Given the description of an element on the screen output the (x, y) to click on. 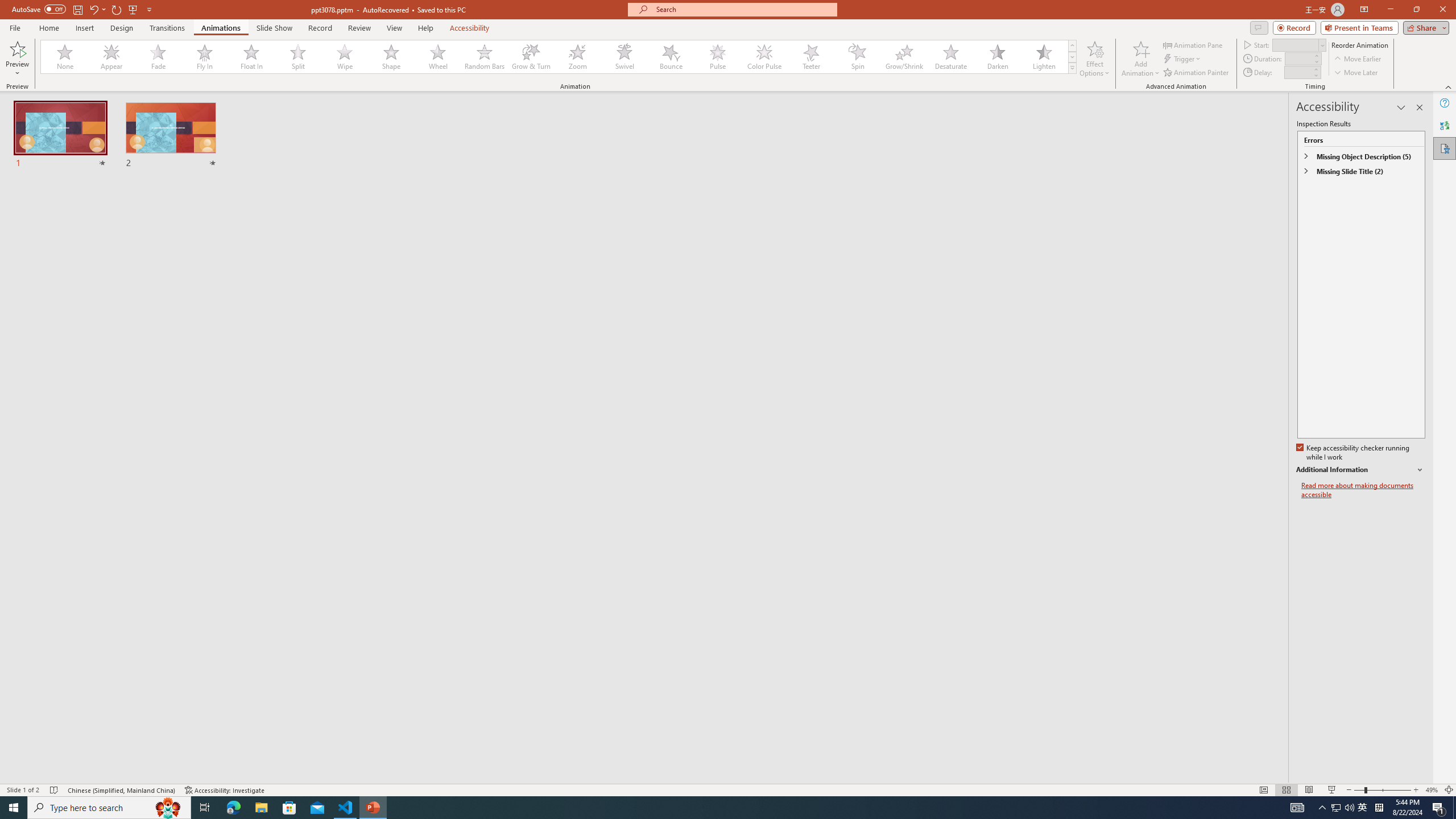
Keep accessibility checker running while I work (1353, 452)
Bounce (670, 56)
Read more about making documents accessible (1363, 489)
Grow/Shrink (903, 56)
Add Animation (1141, 58)
